Given the description of an element on the screen output the (x, y) to click on. 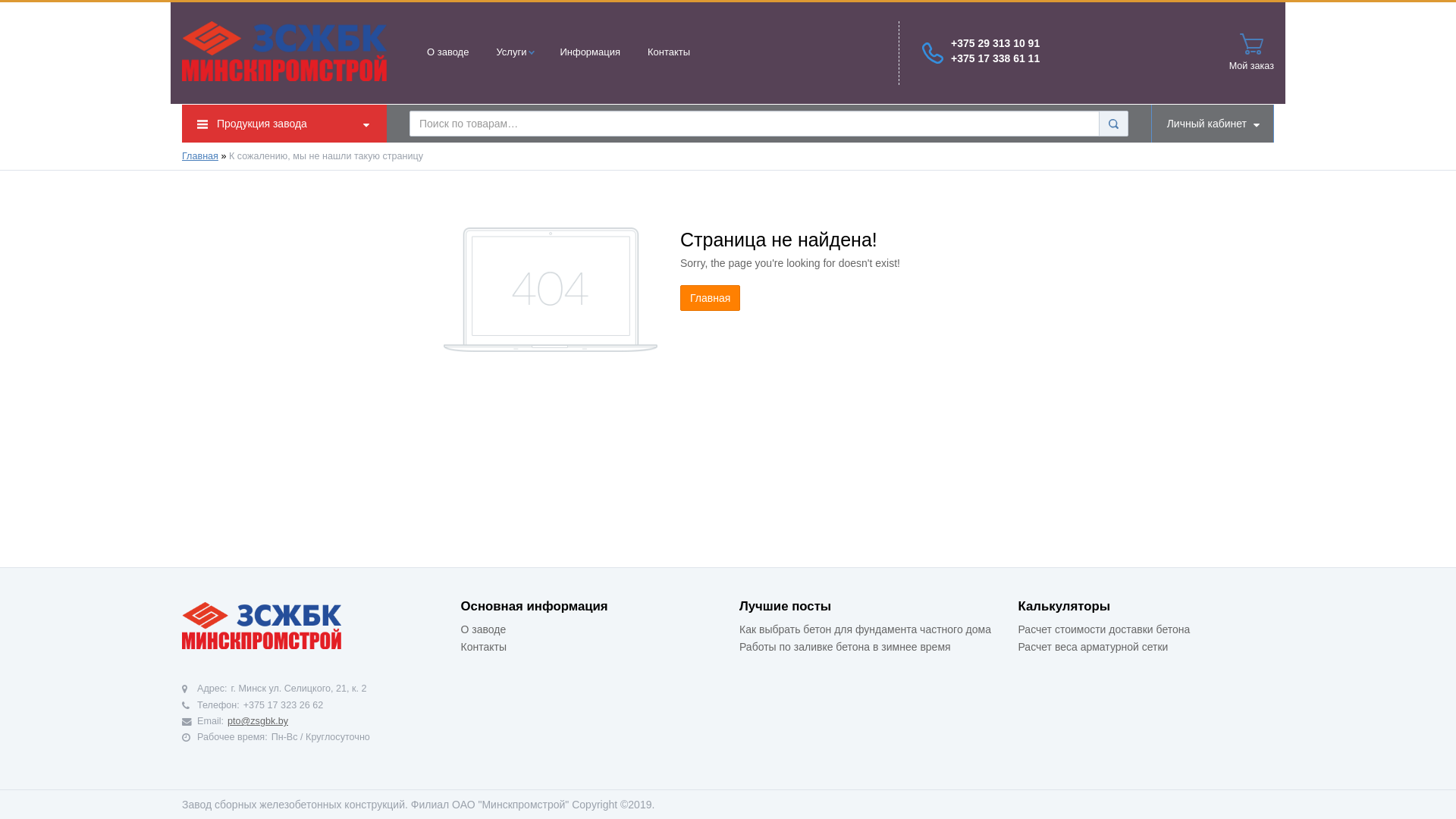
+375 17 338 61 11 Element type: text (994, 58)
+375 29 313 10 91 Element type: text (994, 42)
pto@zsgbk.by Element type: text (257, 720)
